Given the description of an element on the screen output the (x, y) to click on. 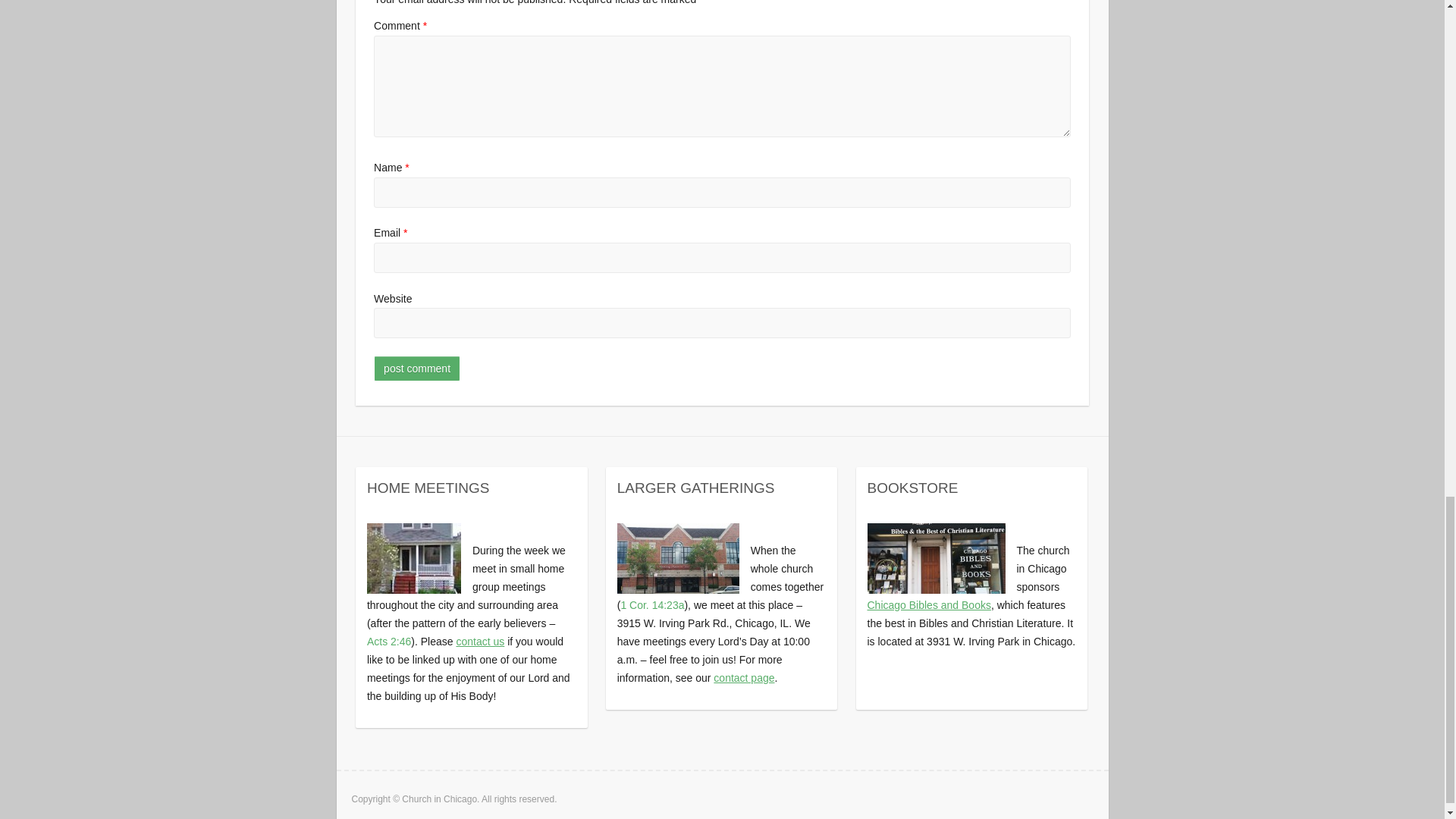
Post Comment (417, 368)
